Given the description of an element on the screen output the (x, y) to click on. 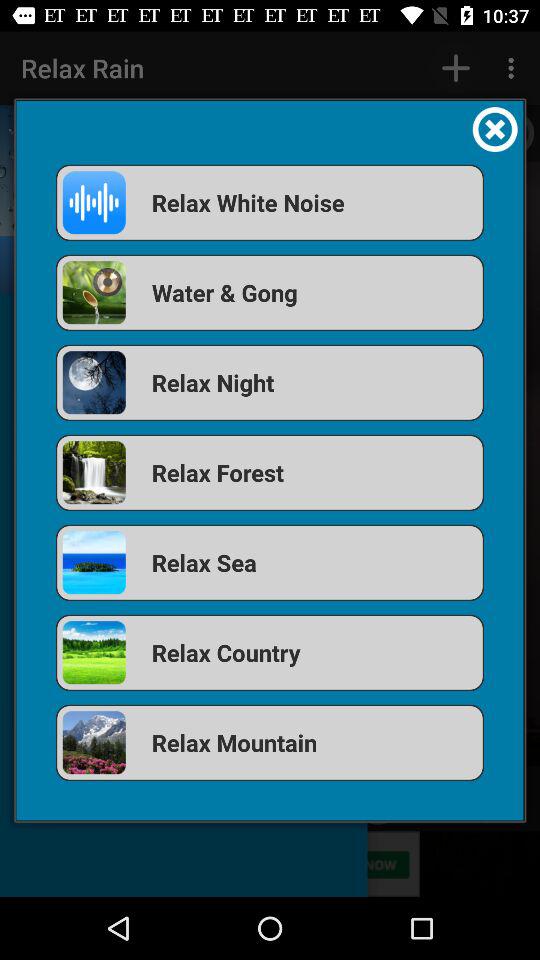
turn off the relax sea app (269, 562)
